Given the description of an element on the screen output the (x, y) to click on. 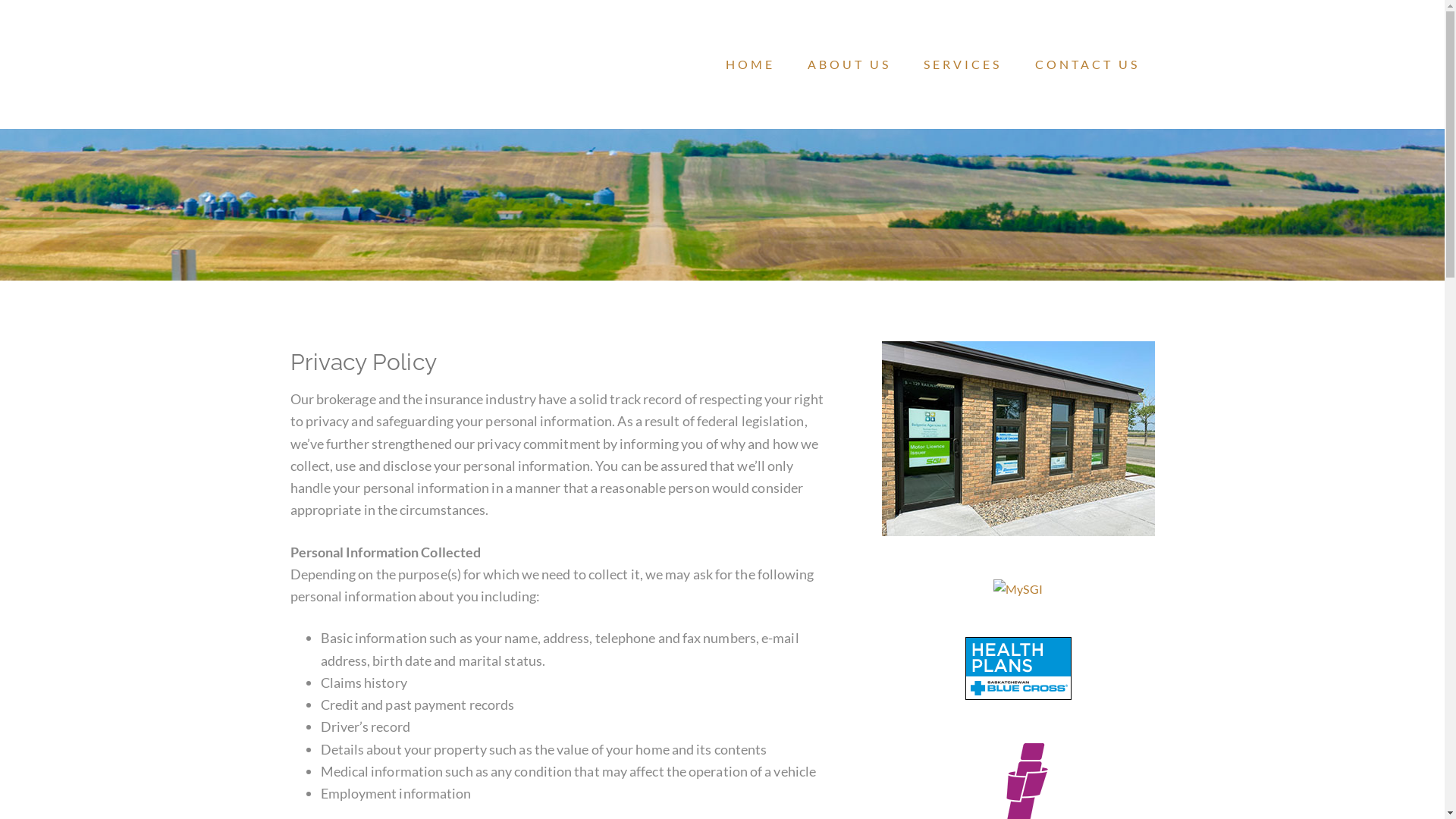
CONTACT US Element type: text (1086, 64)
Balgonie Agencies Ltd. Element type: text (410, 67)
ABOUT US Element type: text (849, 64)
SERVICES Element type: text (962, 64)
HOME Element type: text (750, 64)
